Given the description of an element on the screen output the (x, y) to click on. 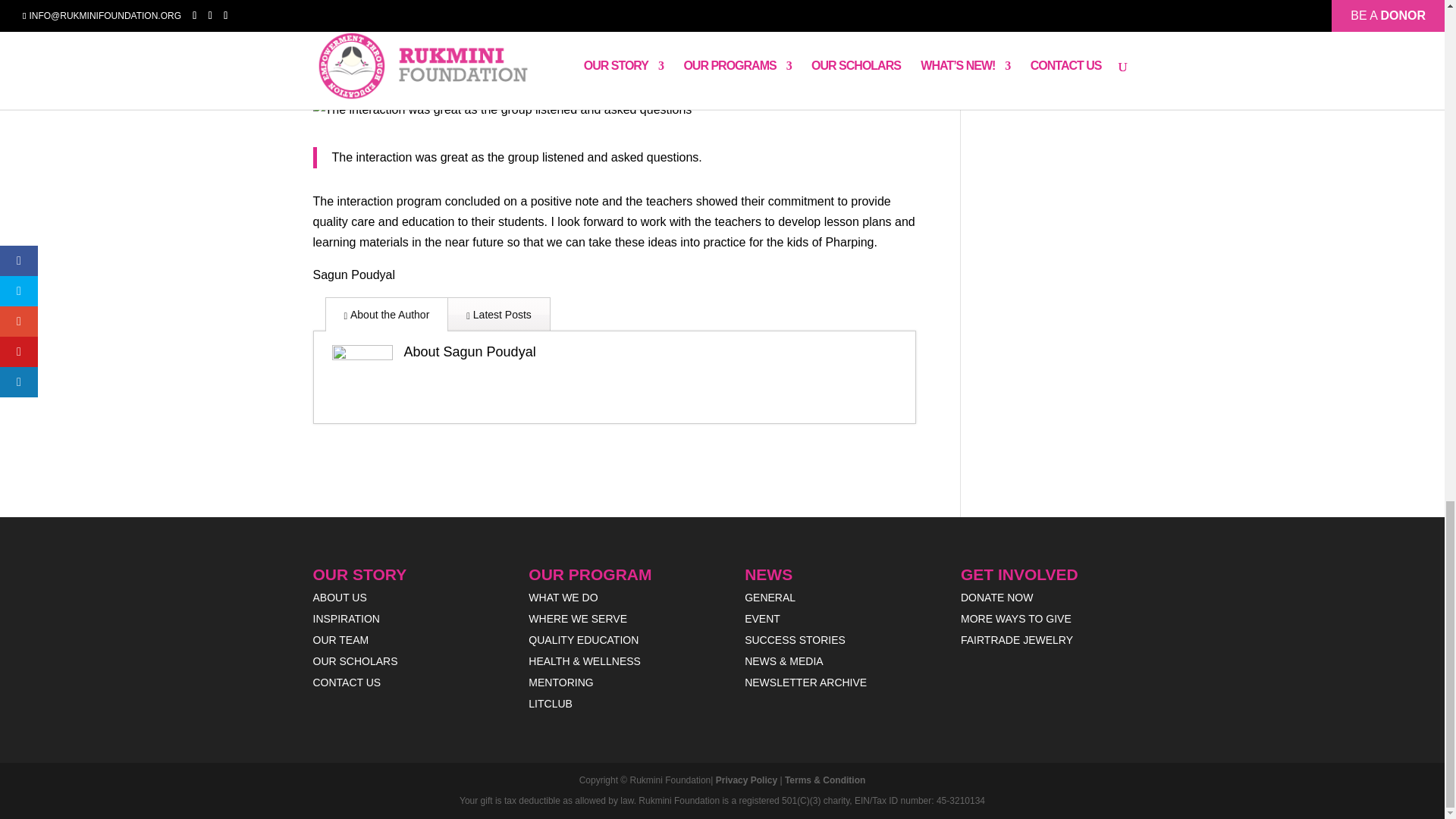
Latest Posts (498, 314)
About the Author (386, 314)
